Given the description of an element on the screen output the (x, y) to click on. 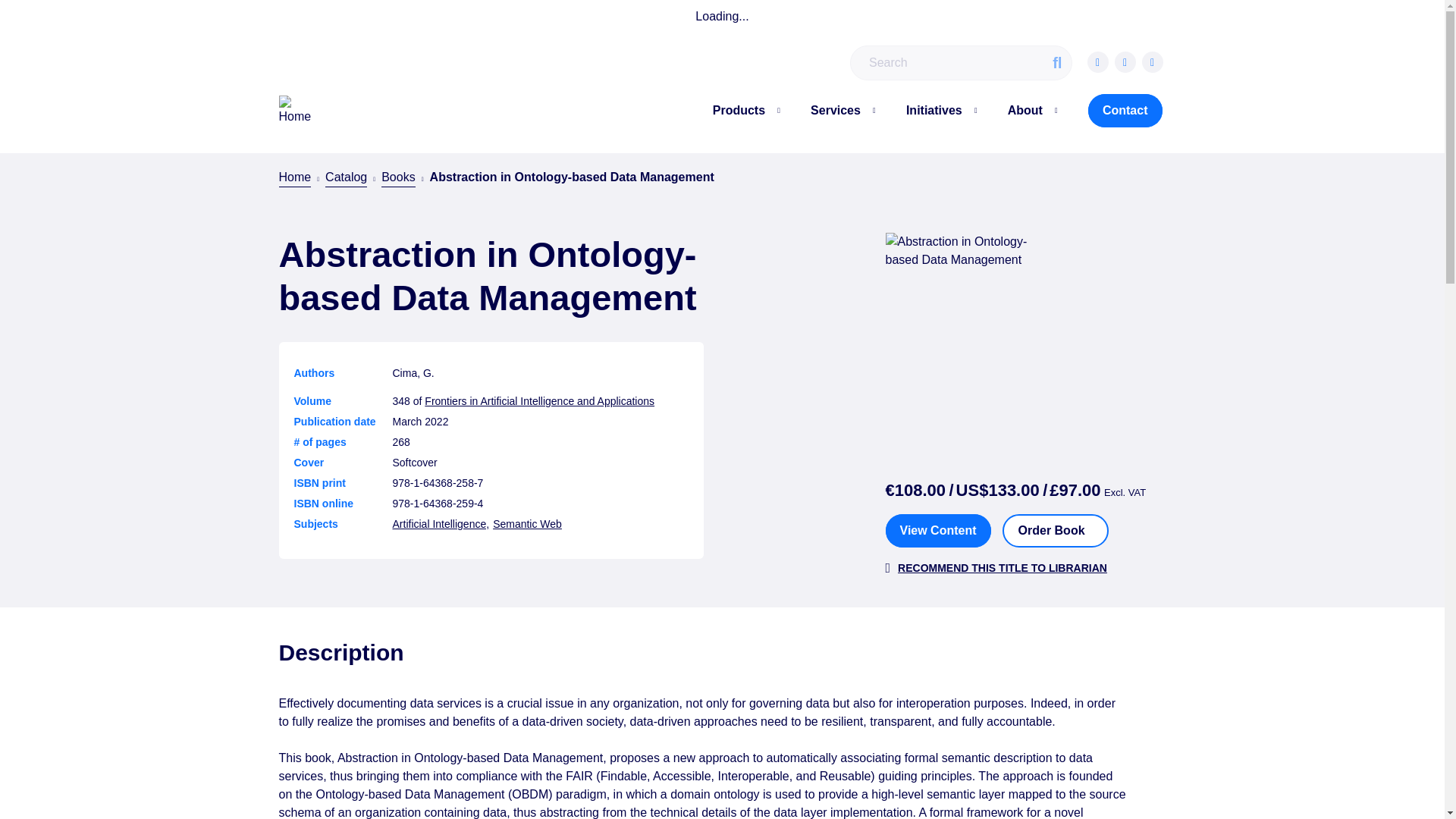
Catalog (345, 177)
View Content (938, 530)
Products (739, 110)
Abstraction in Ontology-based Data Management (488, 275)
Frontiers in Artificial Intelligence and Applications (539, 400)
Books (397, 177)
Home (295, 177)
Services (835, 110)
Twitter (1125, 61)
LinkedIn (1152, 61)
